Given the description of an element on the screen output the (x, y) to click on. 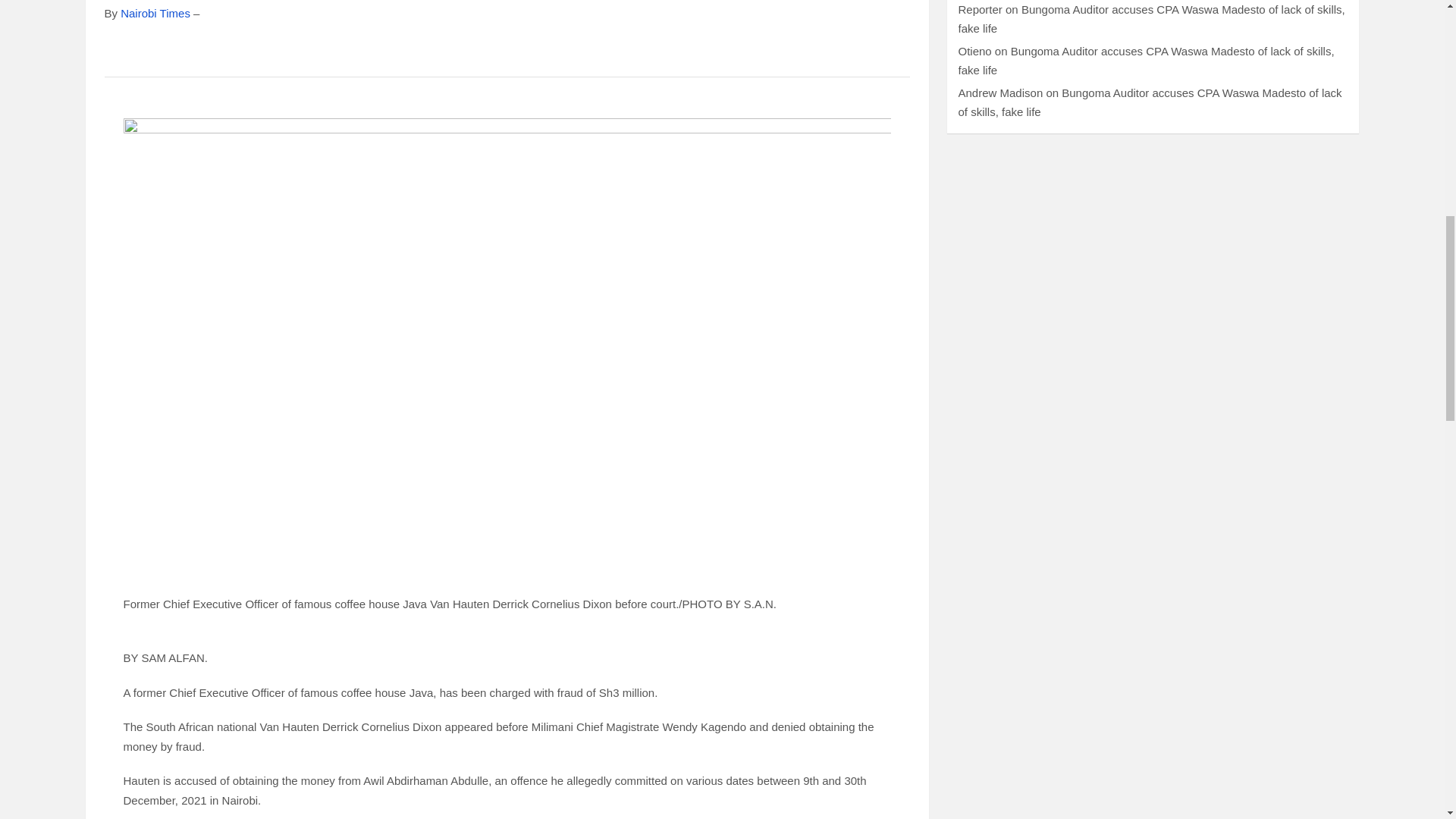
Nairobi Times (155, 12)
